Given the description of an element on the screen output the (x, y) to click on. 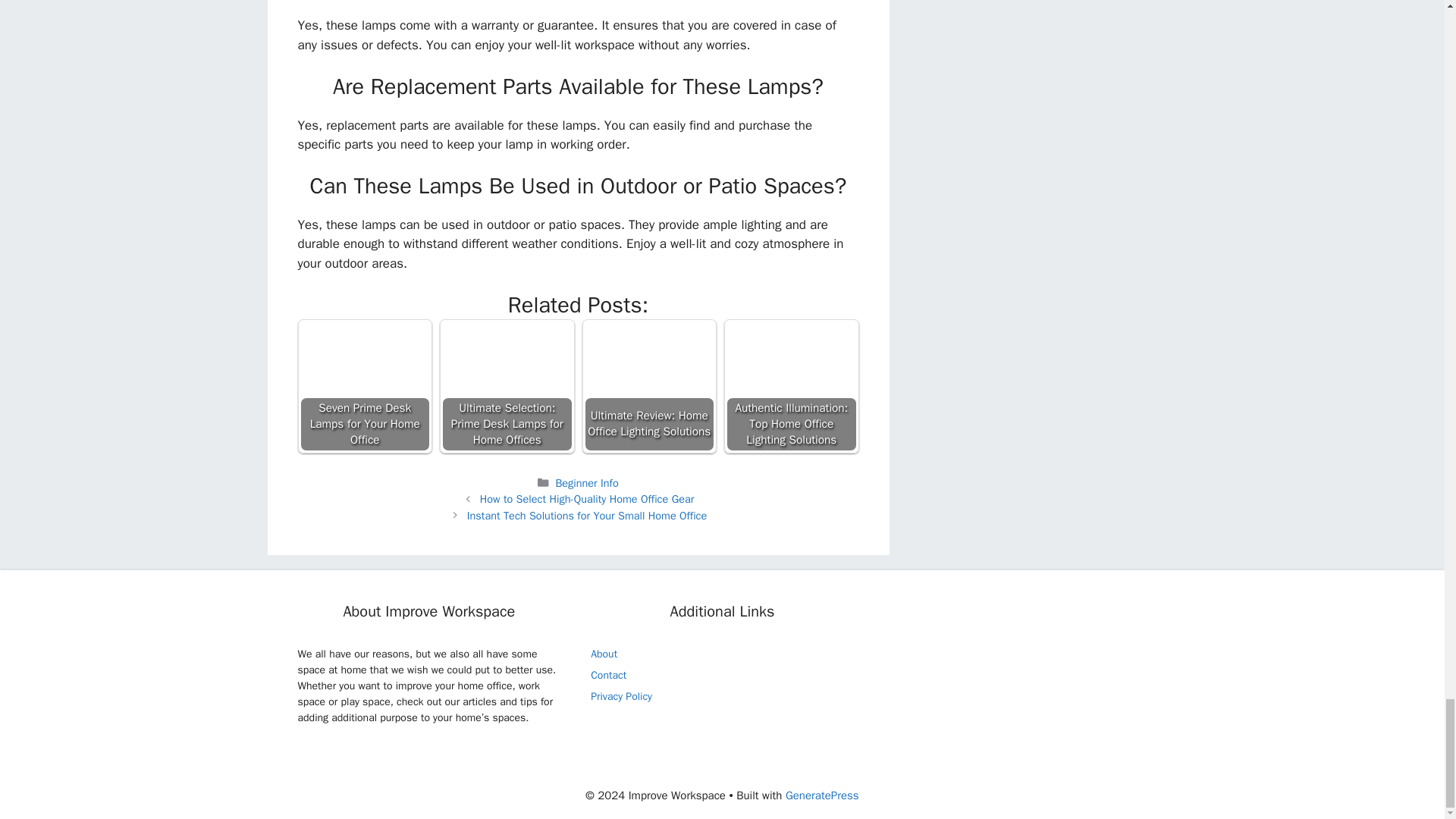
How to Select High-Quality Home Office Gear (587, 499)
Ultimate Review: Home Office Lighting Solutions (649, 386)
Instant Tech Solutions for Your Small Home Office (587, 515)
Authentic Illumination: Top Home Office Lighting Solutions (792, 386)
Beginner Info (585, 482)
Seven Prime Desk Lamps for Your Home Office (365, 386)
Ultimate Selection: Prime Desk Lamps for Home Offices (507, 386)
